Given the description of an element on the screen output the (x, y) to click on. 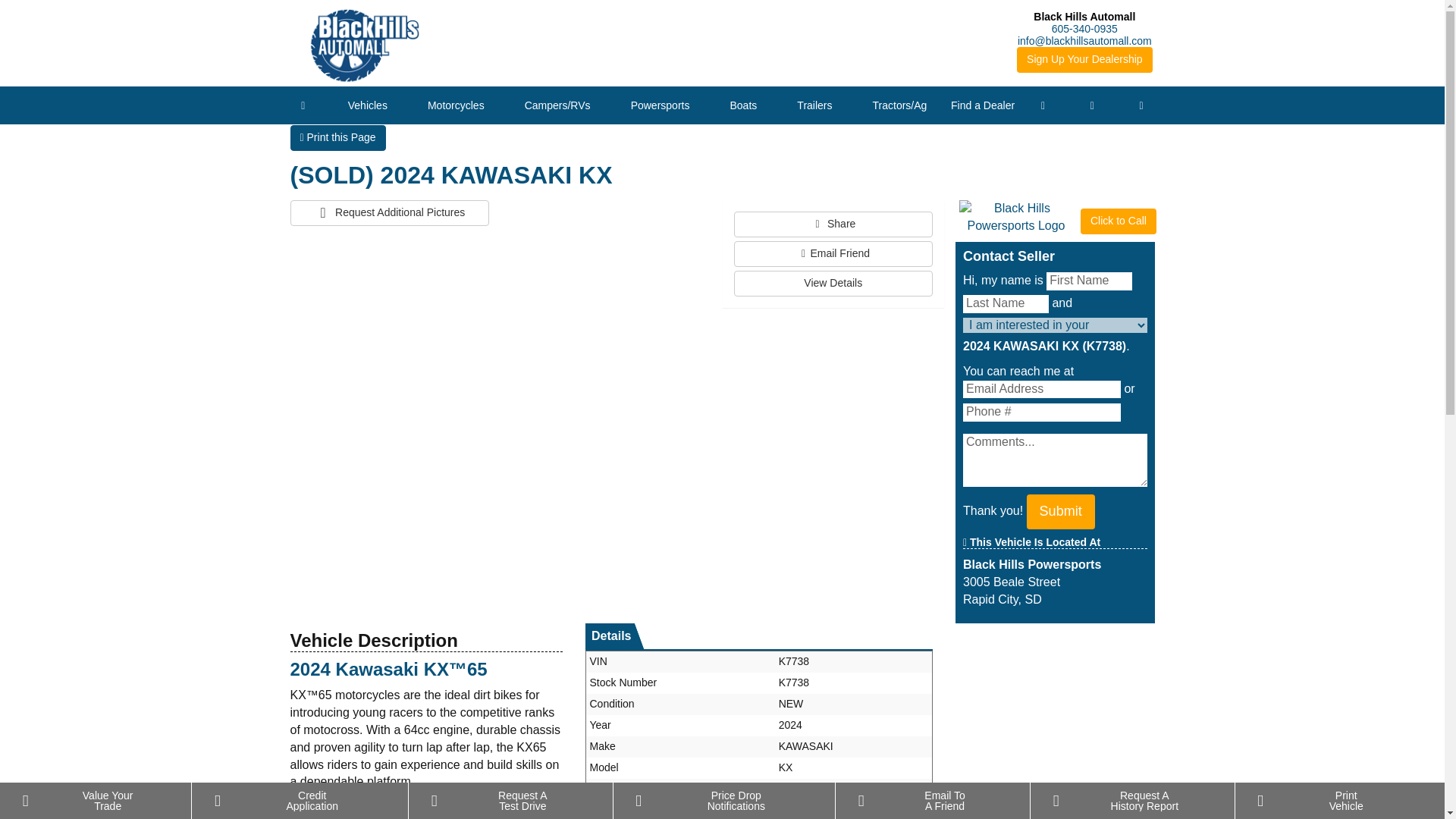
Powersports (660, 105)
Vehicles (367, 105)
Click to Call (1118, 221)
Sign Up Your Dealership (1084, 59)
 Request Additional Pictures (389, 212)
Find a Dealer (982, 105)
605-340-0935 (1084, 28)
Share (833, 224)
View Details (833, 283)
Motorcycles (455, 105)
